Given the description of an element on the screen output the (x, y) to click on. 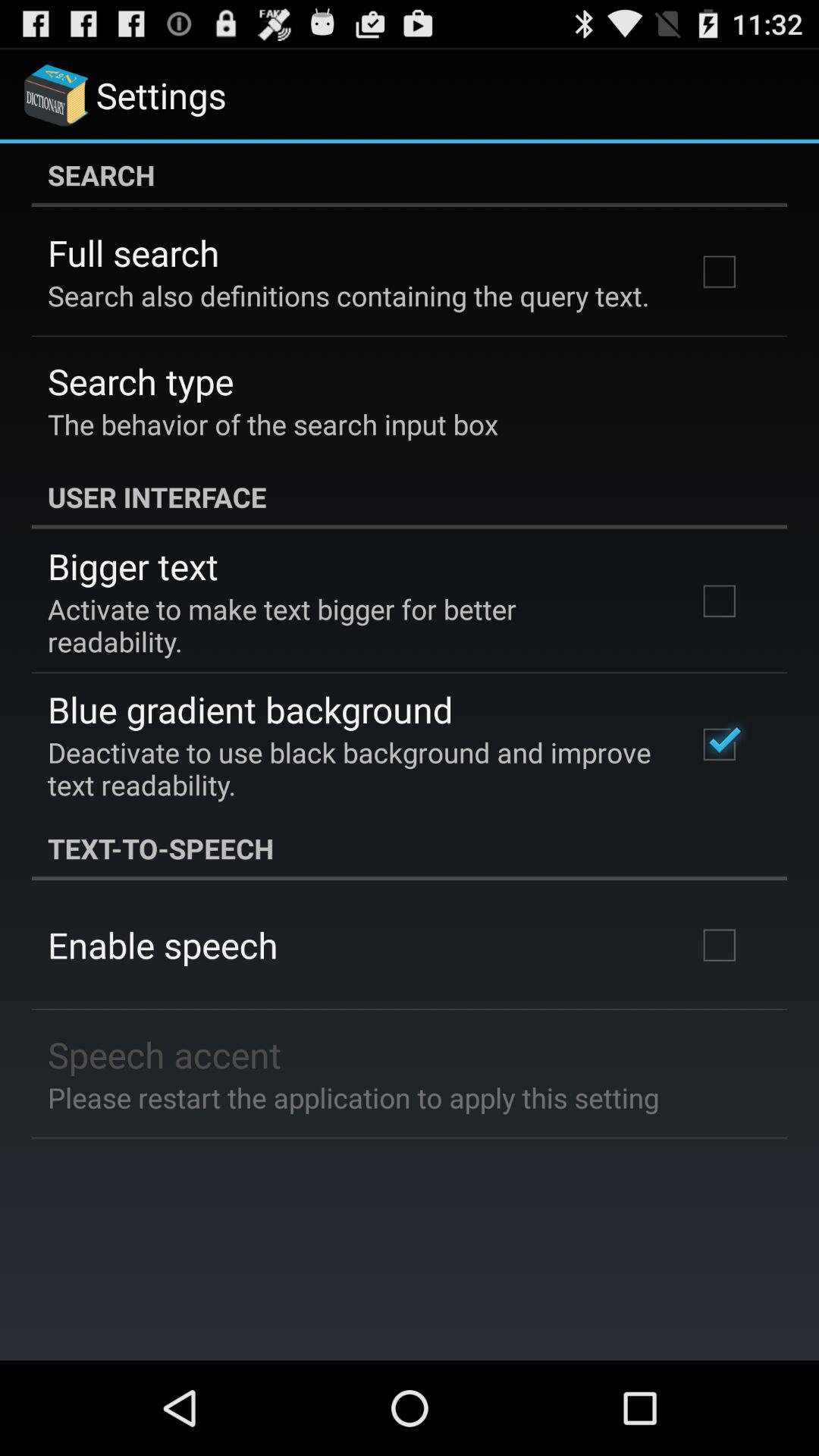
scroll until the speech accent app (164, 1054)
